Given the description of an element on the screen output the (x, y) to click on. 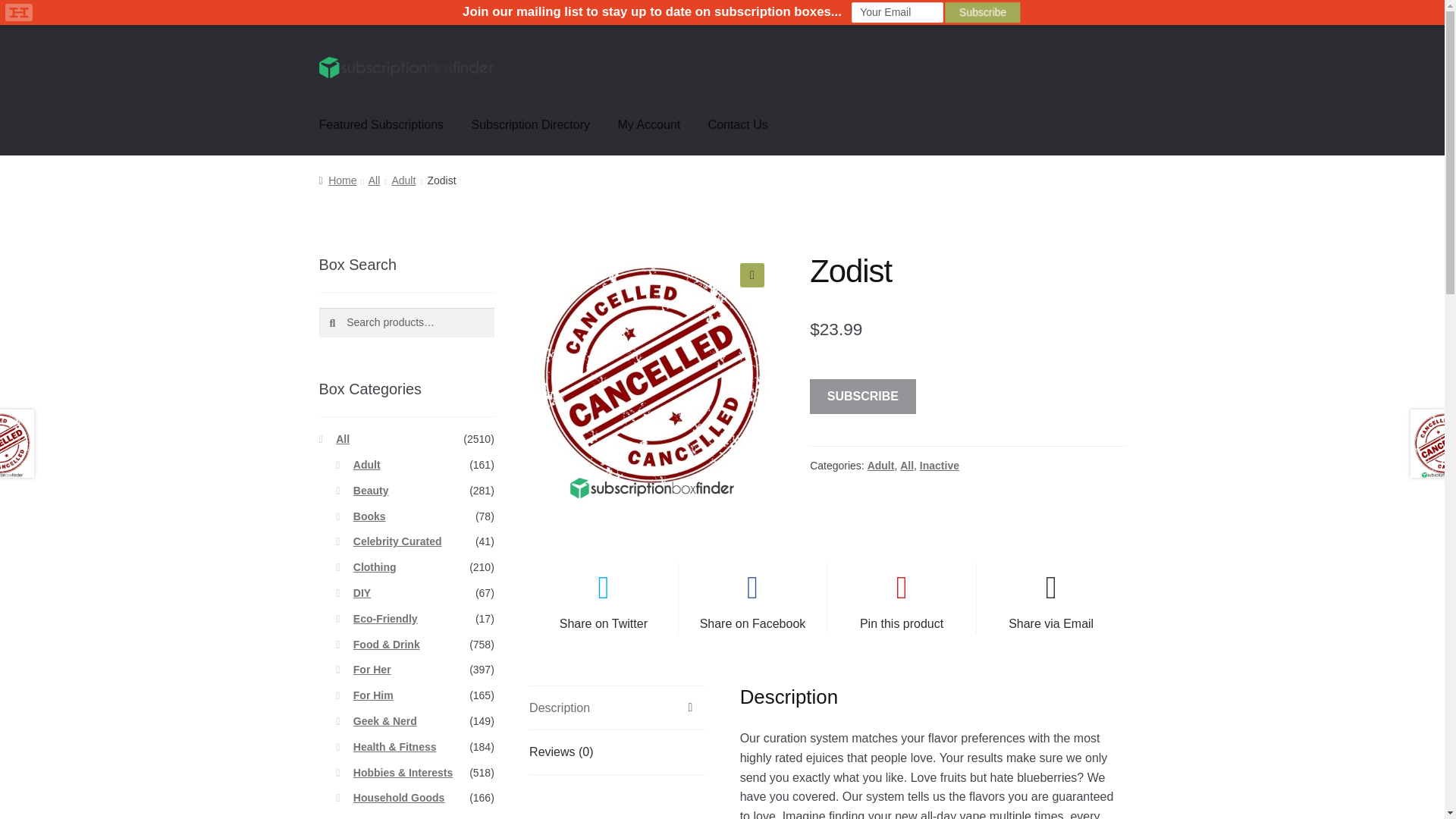
Share on Facebook (752, 597)
Pin this product (901, 597)
SUBSCRIBE (862, 396)
Adult (881, 465)
All (906, 465)
All (374, 180)
Adult (402, 180)
Home (337, 180)
All (342, 439)
Description (616, 708)
Cancelled (651, 374)
Featured Subscriptions (382, 124)
Share via Email (1050, 597)
